Given the description of an element on the screen output the (x, y) to click on. 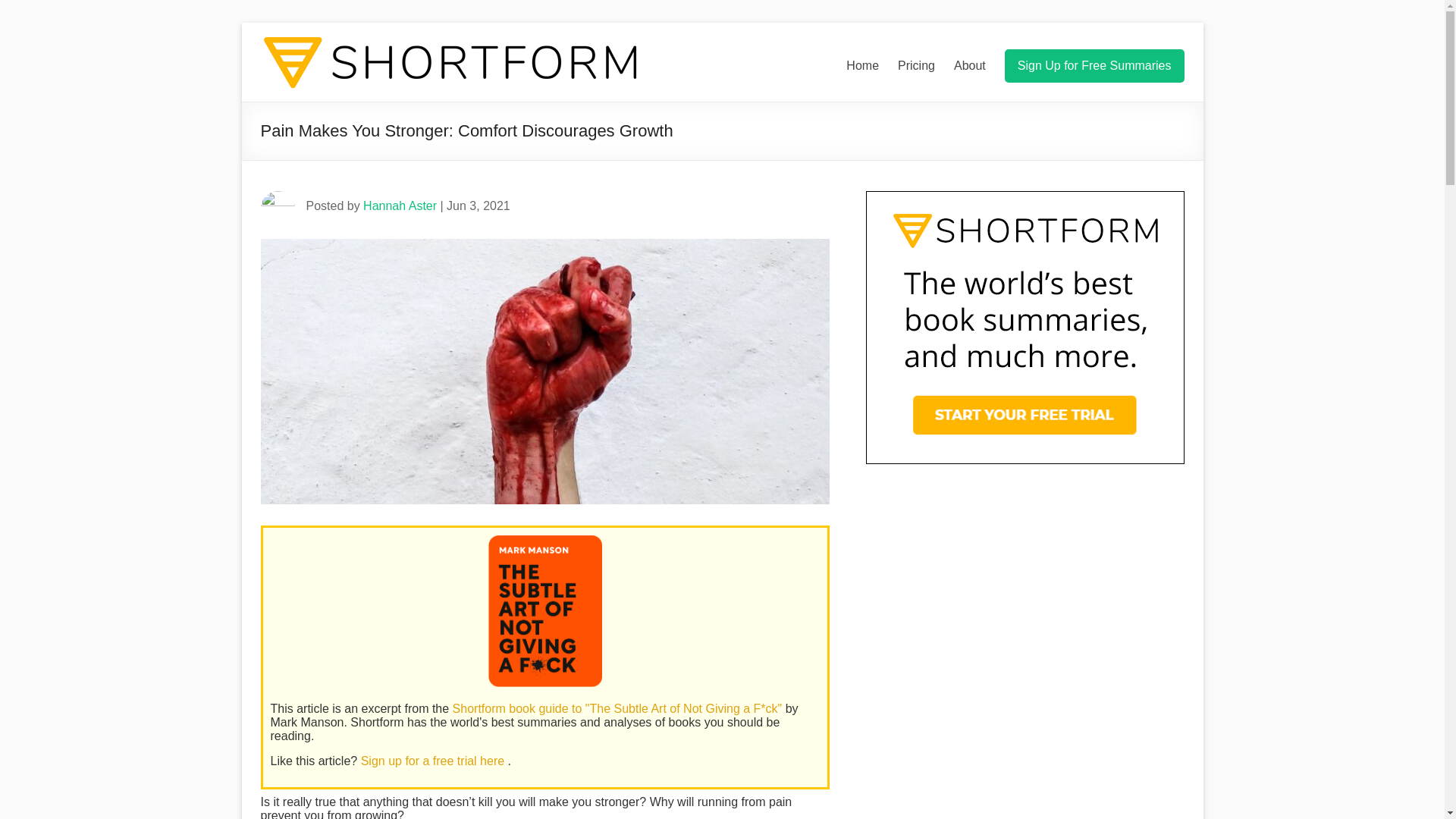
Pricing (916, 65)
About (969, 65)
Sign Up for Free Summaries (1094, 65)
Sign up for a free trial here (434, 760)
Home (862, 65)
Hannah Aster (399, 205)
